Given the description of an element on the screen output the (x, y) to click on. 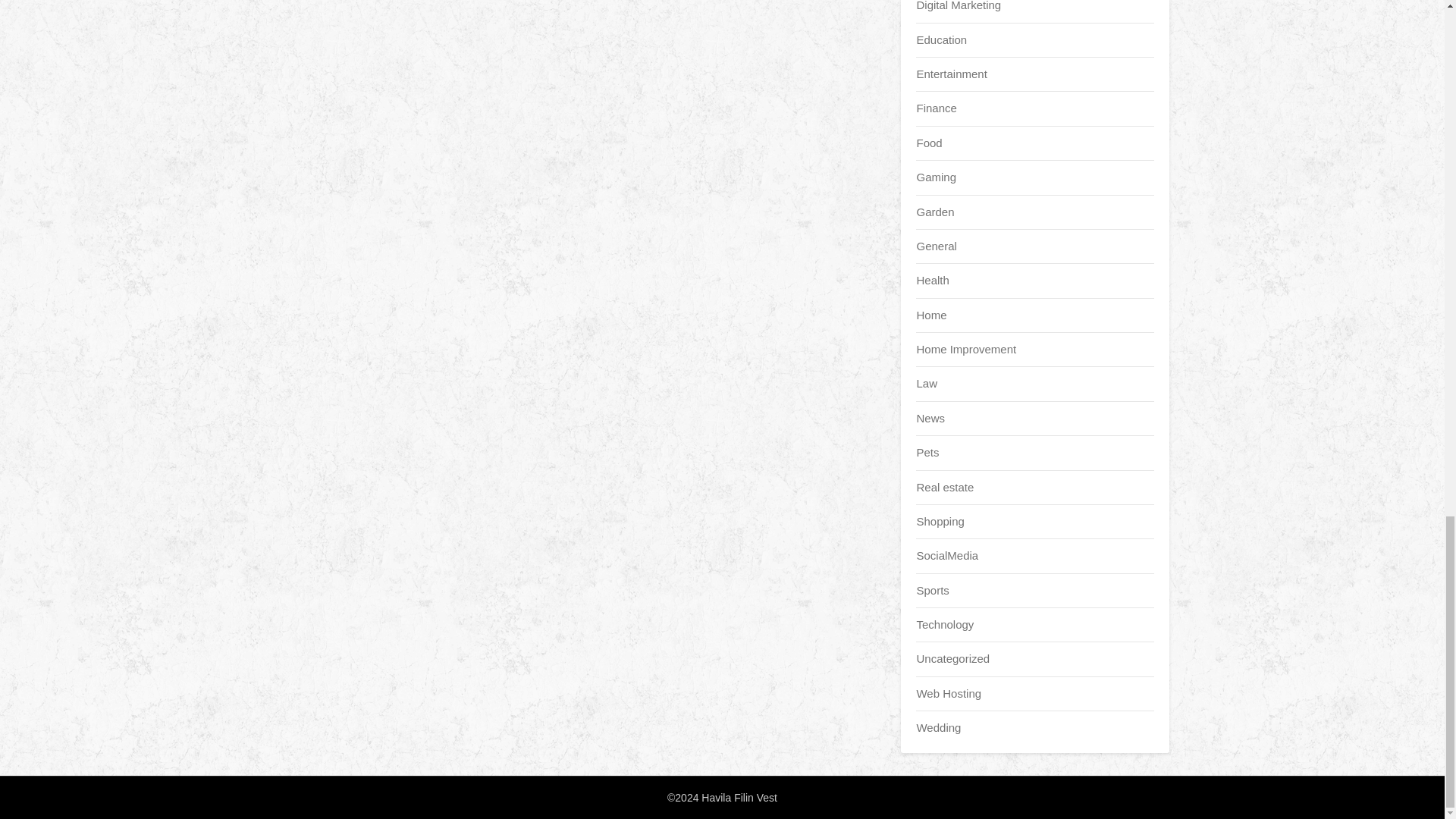
Uncategorized (952, 658)
Home (930, 314)
General (935, 245)
Entertainment (951, 73)
Law (926, 382)
Digital Marketing (958, 5)
Education (940, 39)
Technology (944, 624)
Food (928, 142)
Health (932, 279)
Sports (932, 590)
Shopping (939, 521)
Garden (934, 211)
Finance (935, 107)
News (929, 418)
